Given the description of an element on the screen output the (x, y) to click on. 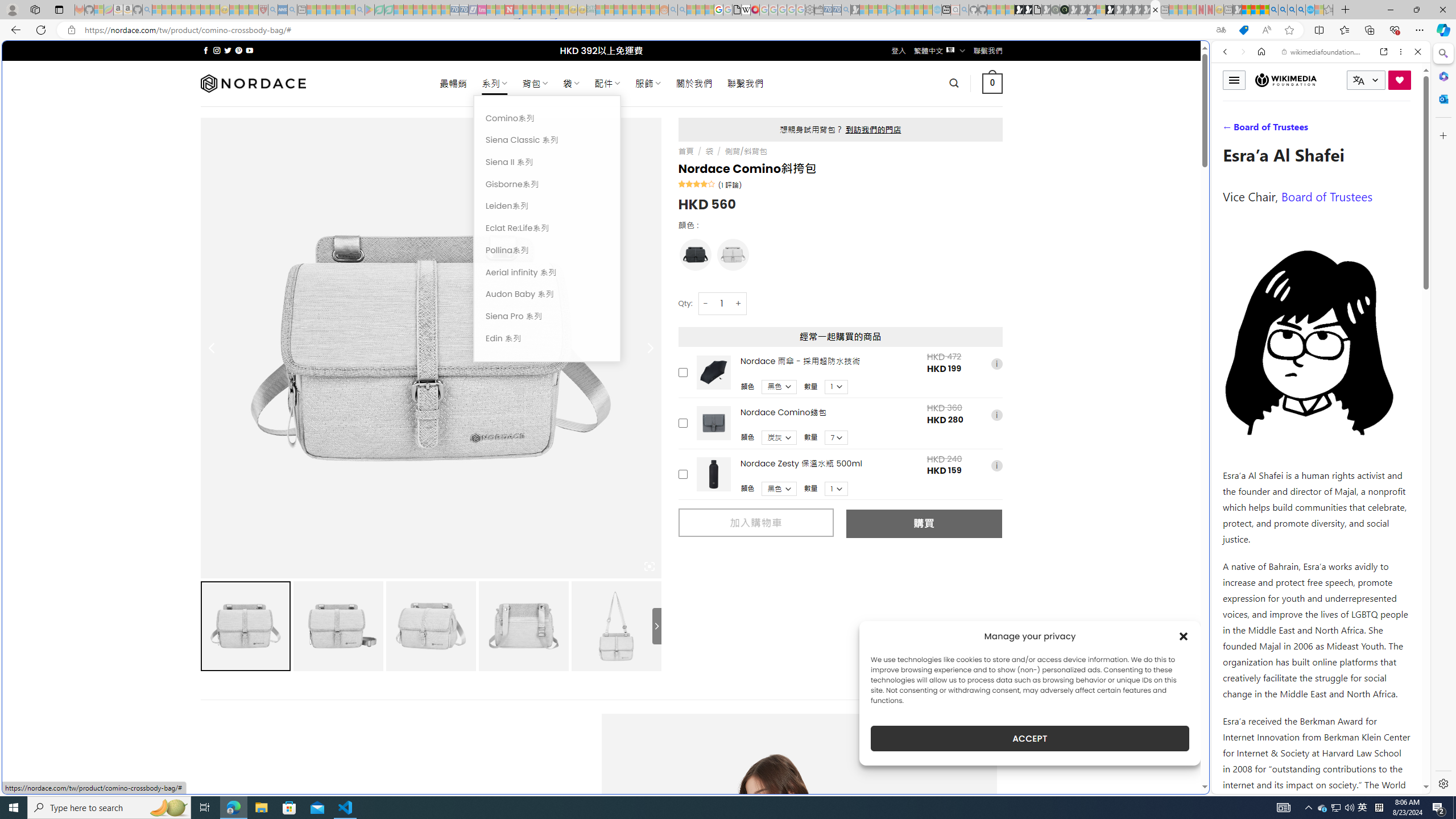
Services - Maintenance | Sky Blue Bikes - Sky Blue Bikes (1309, 9)
Utah sues federal government - Search - Sleeping (681, 9)
Kinda Frugal - MSN - Sleeping (636, 9)
Preferences (1403, 129)
Show translate options (1220, 29)
Tabs you've opened (885, 151)
utah sues federal government - Search - Sleeping (291, 9)
